Given the description of an element on the screen output the (x, y) to click on. 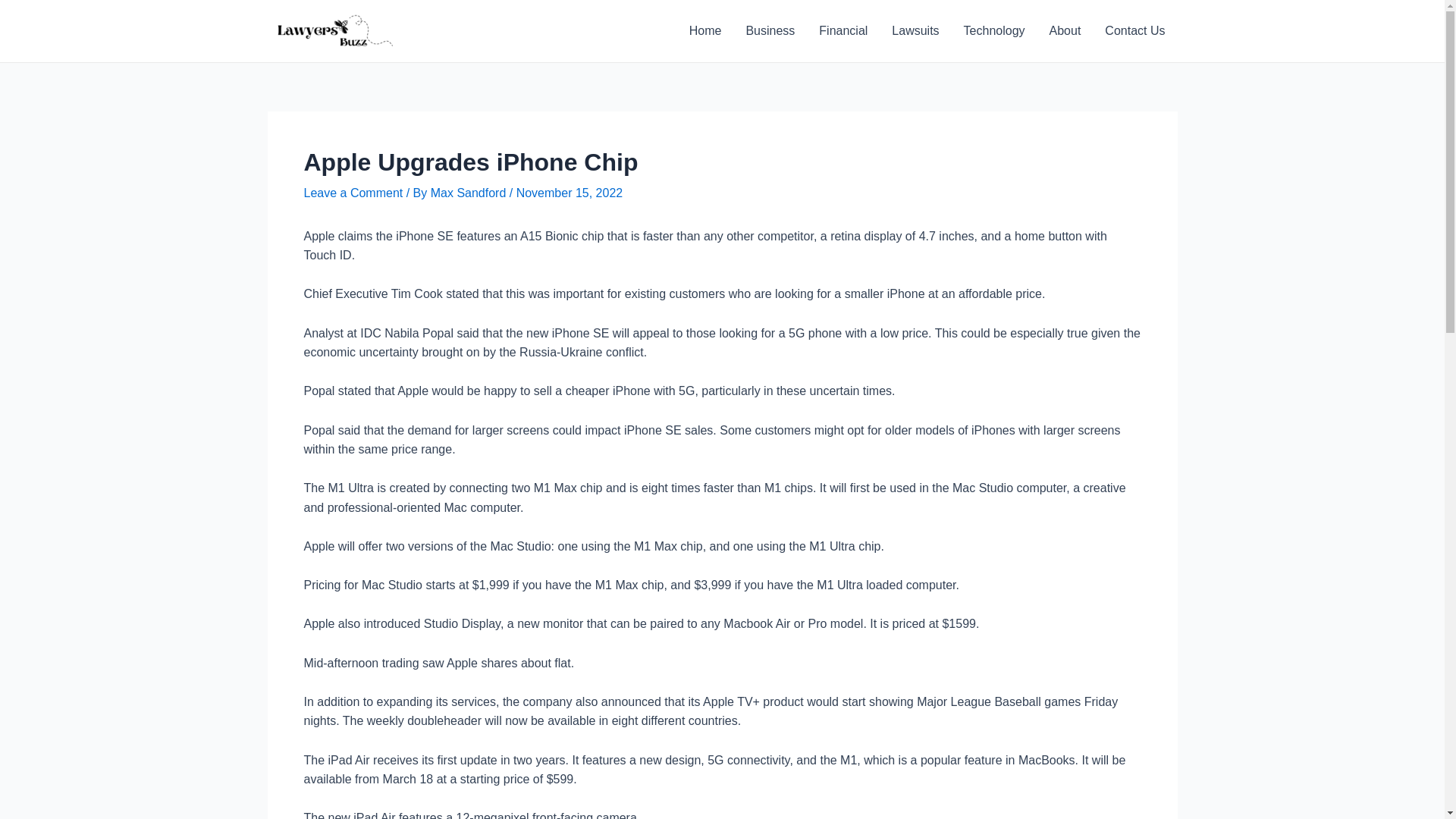
Max Sandford Element type: text (469, 192)
Home Element type: text (705, 30)
Lawsuits Element type: text (914, 30)
Leave a Comment Element type: text (352, 192)
Business Element type: text (769, 30)
Technology Element type: text (994, 30)
Contact Us Element type: text (1134, 30)
Financial Element type: text (842, 30)
About Element type: text (1065, 30)
